Given the description of an element on the screen output the (x, y) to click on. 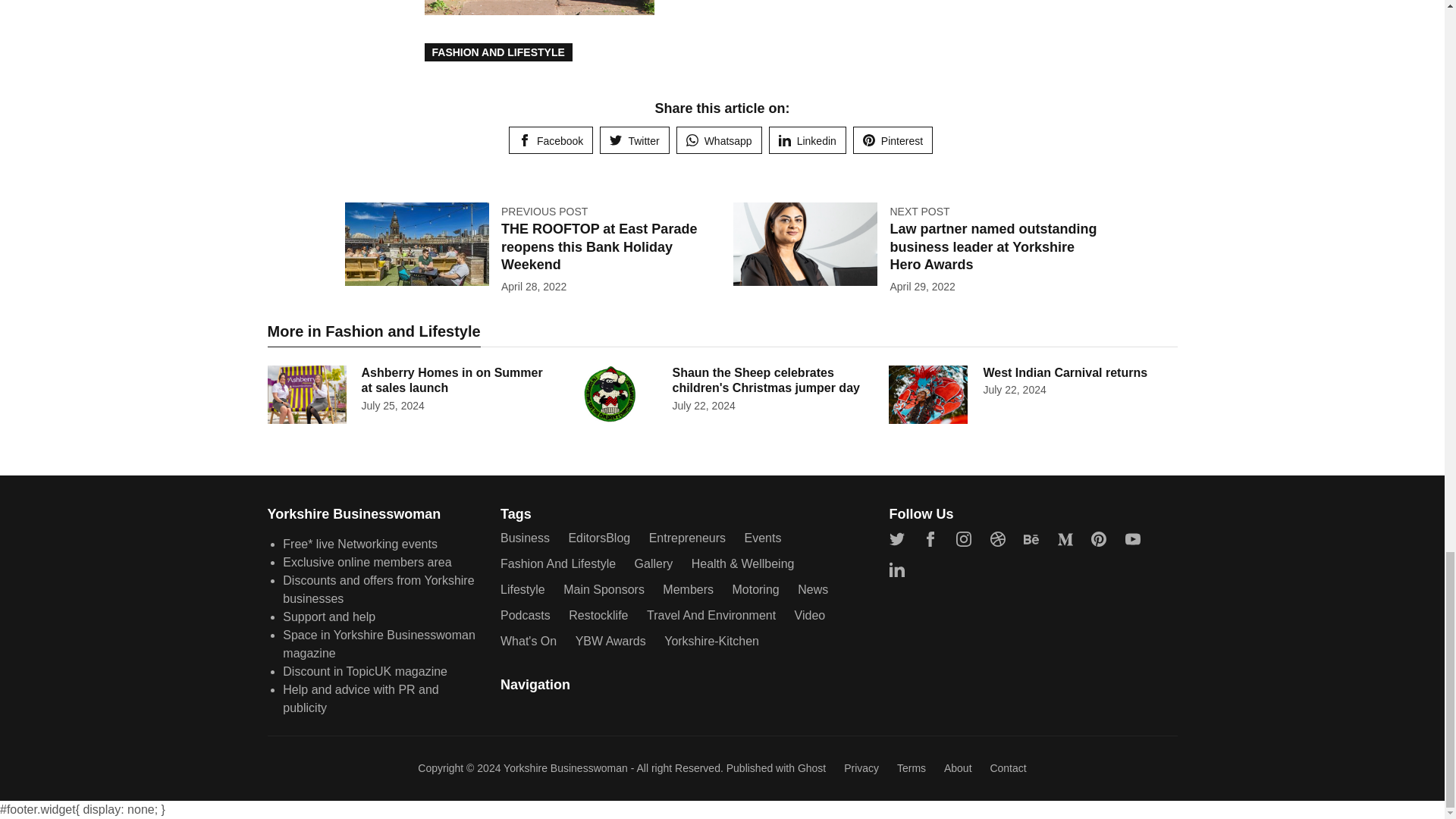
Ashberry Homes in on Summer at sales launch (451, 380)
Share on Pinterest (893, 139)
Share on Twitter (633, 139)
28 April, 2022 (533, 286)
FASHION AND LIFESTYLE (498, 52)
25 July, 2024 (392, 405)
Share on Whatsapp (719, 139)
West Indian Carnival returns (1064, 372)
29 April, 2022 (922, 286)
NEXT POST (919, 211)
Pinterest (893, 139)
Business (525, 538)
Share on Linkedin (806, 139)
Facebook (550, 139)
